Given the description of an element on the screen output the (x, y) to click on. 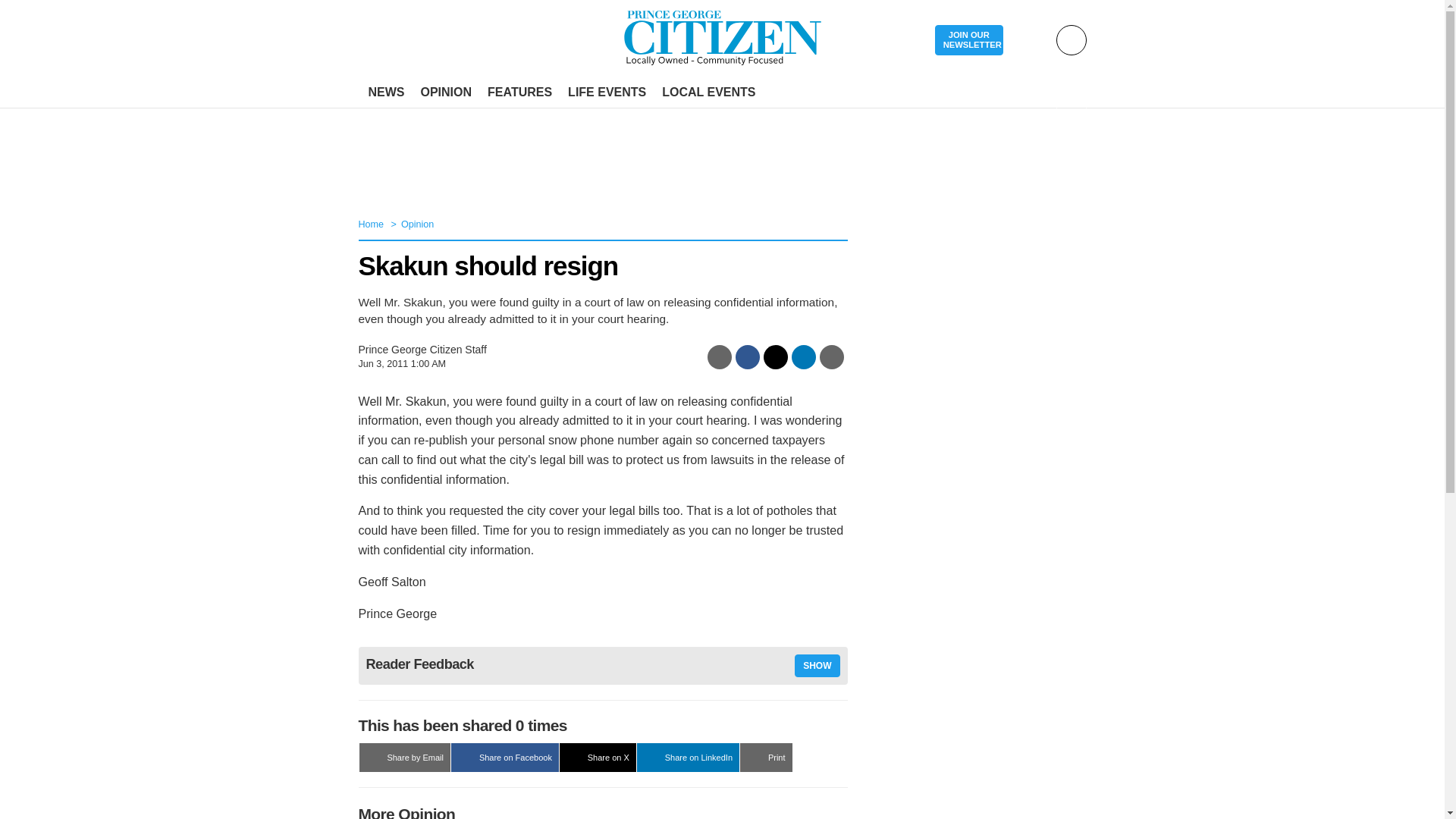
JOIN OUR NEWSLETTER (968, 40)
NEWS (386, 92)
OPINION (445, 92)
